Given the description of an element on the screen output the (x, y) to click on. 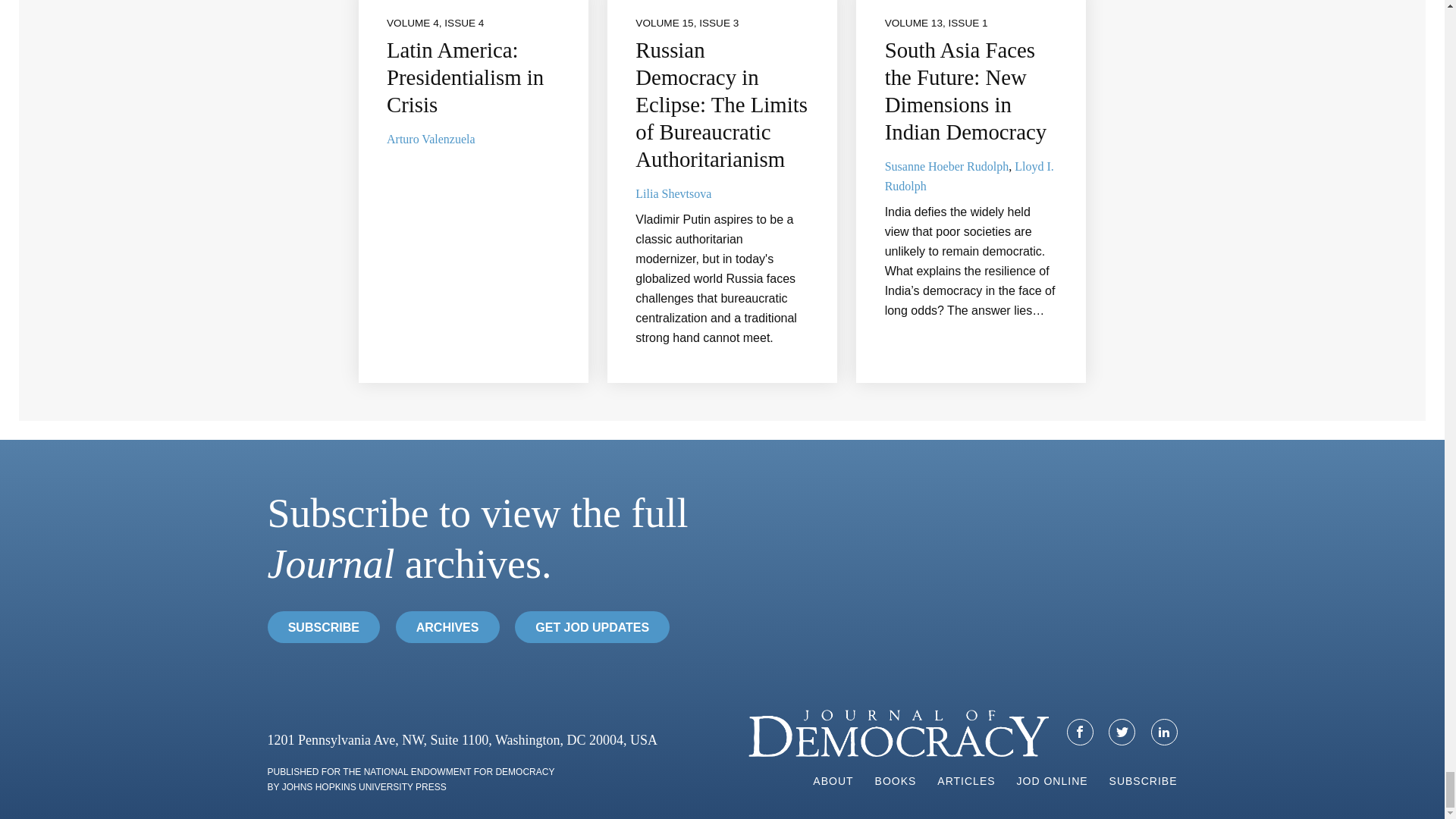
Facebook (1080, 732)
Twitter (1121, 732)
LinkedIn (1164, 732)
facebook (1080, 731)
linkedin (1163, 731)
twitter (1122, 731)
